Given the description of an element on the screen output the (x, y) to click on. 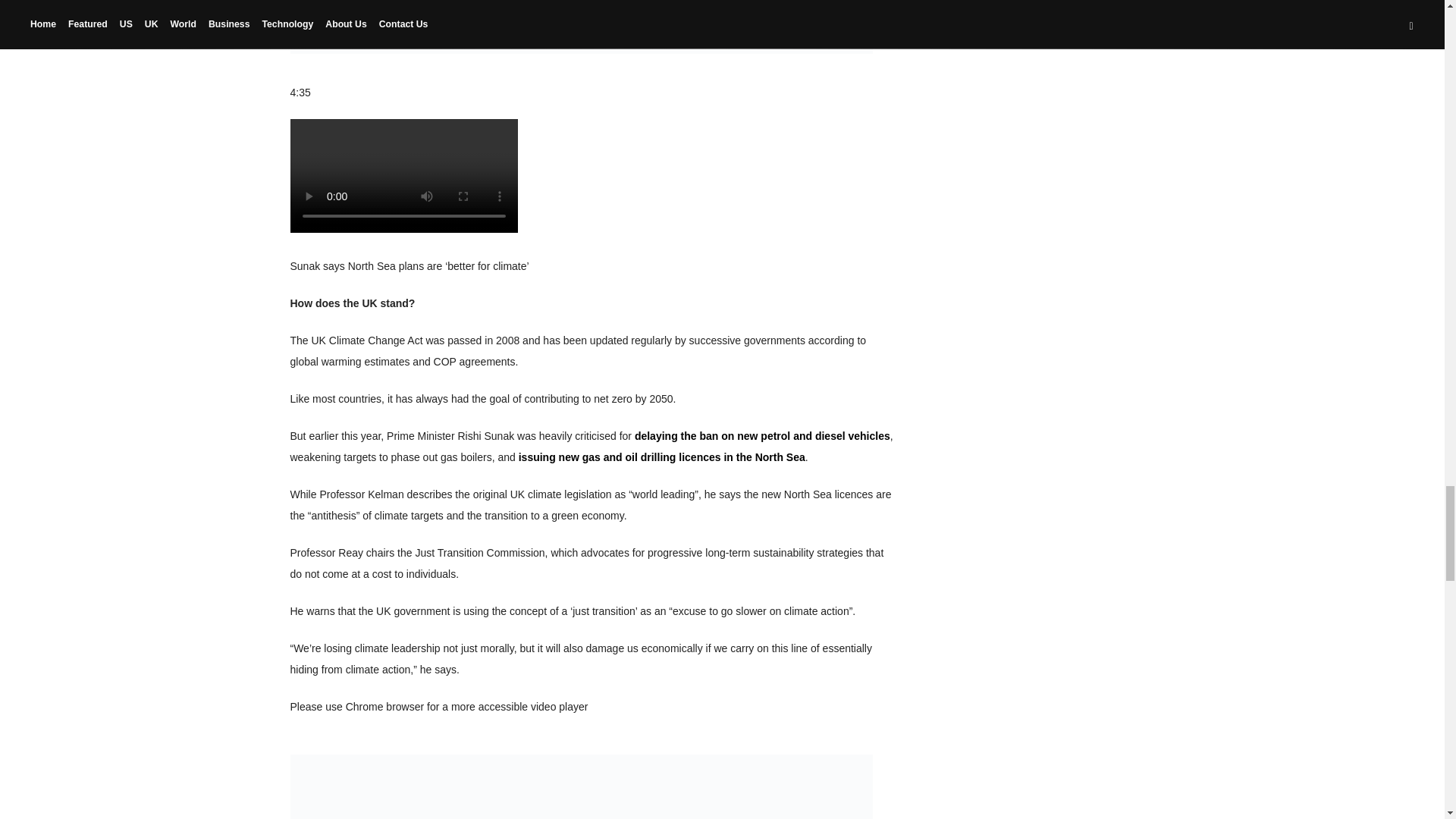
issuing new gas and oil drilling licences in the North Sea (661, 457)
delaying the ban on new petrol and diesel vehicles (761, 435)
